Given the description of an element on the screen output the (x, y) to click on. 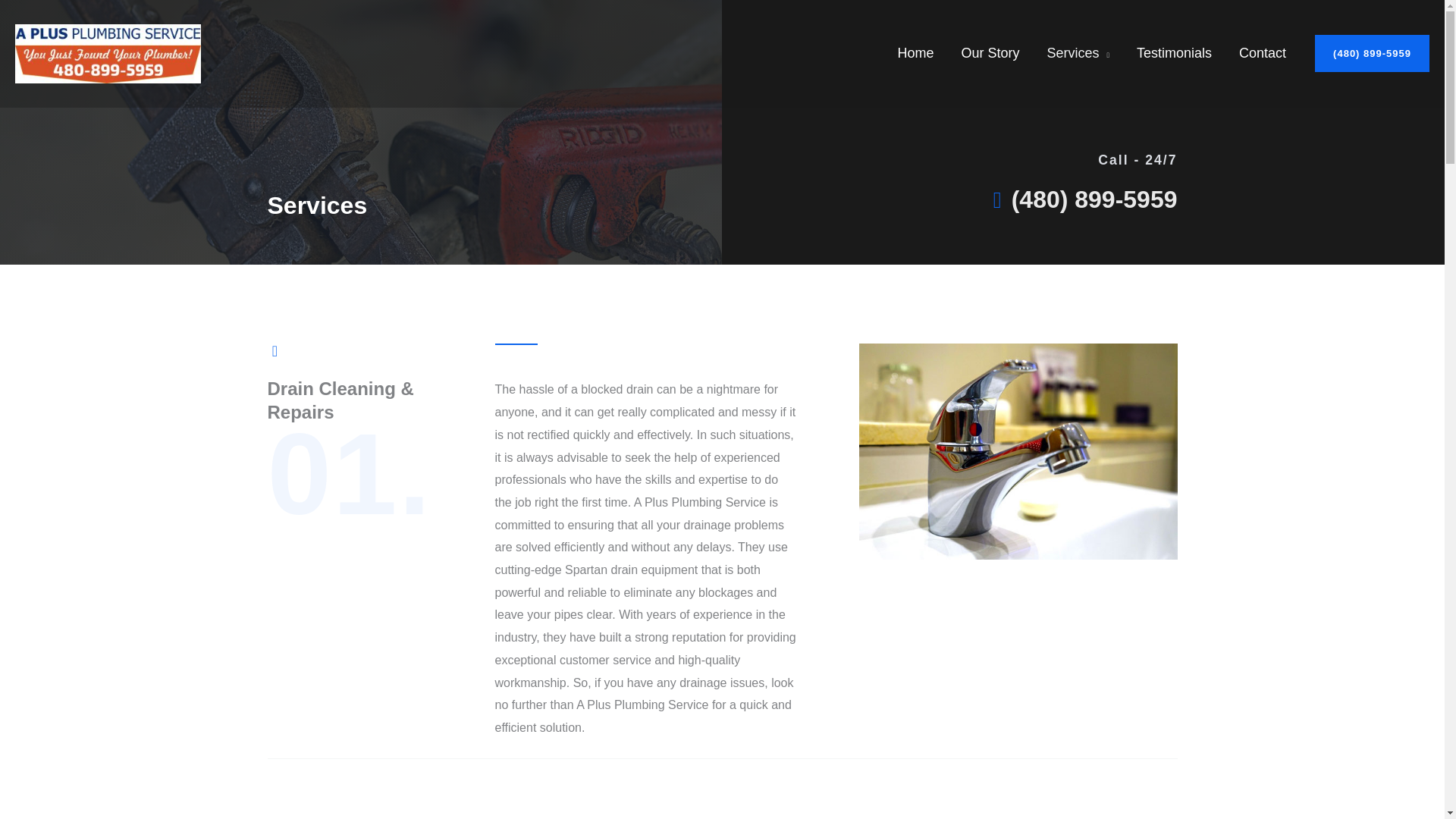
Contact (1262, 52)
Home (915, 52)
Services (1077, 52)
Our Story (989, 52)
Testimonials (1173, 52)
